Given the description of an element on the screen output the (x, y) to click on. 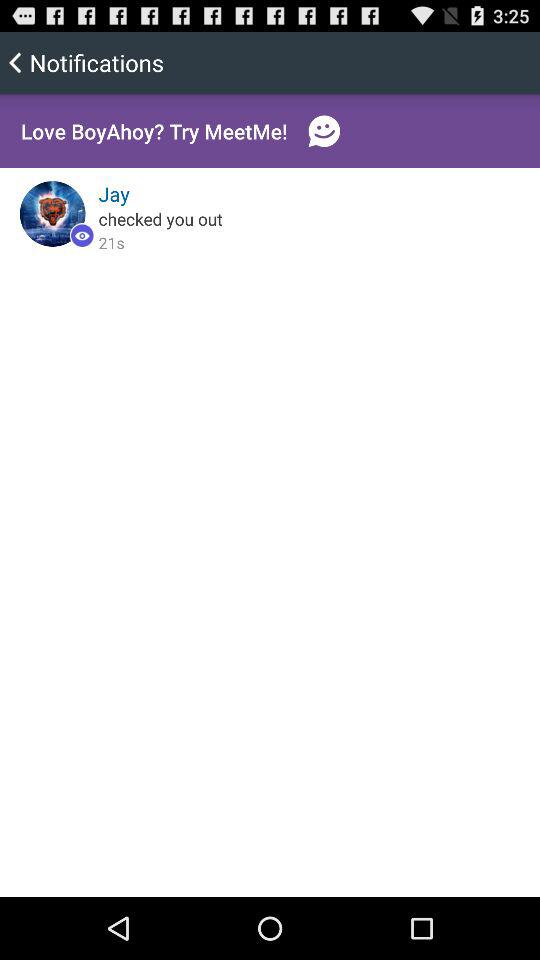
turn off the item below love boyahoy try icon (113, 193)
